Given the description of an element on the screen output the (x, y) to click on. 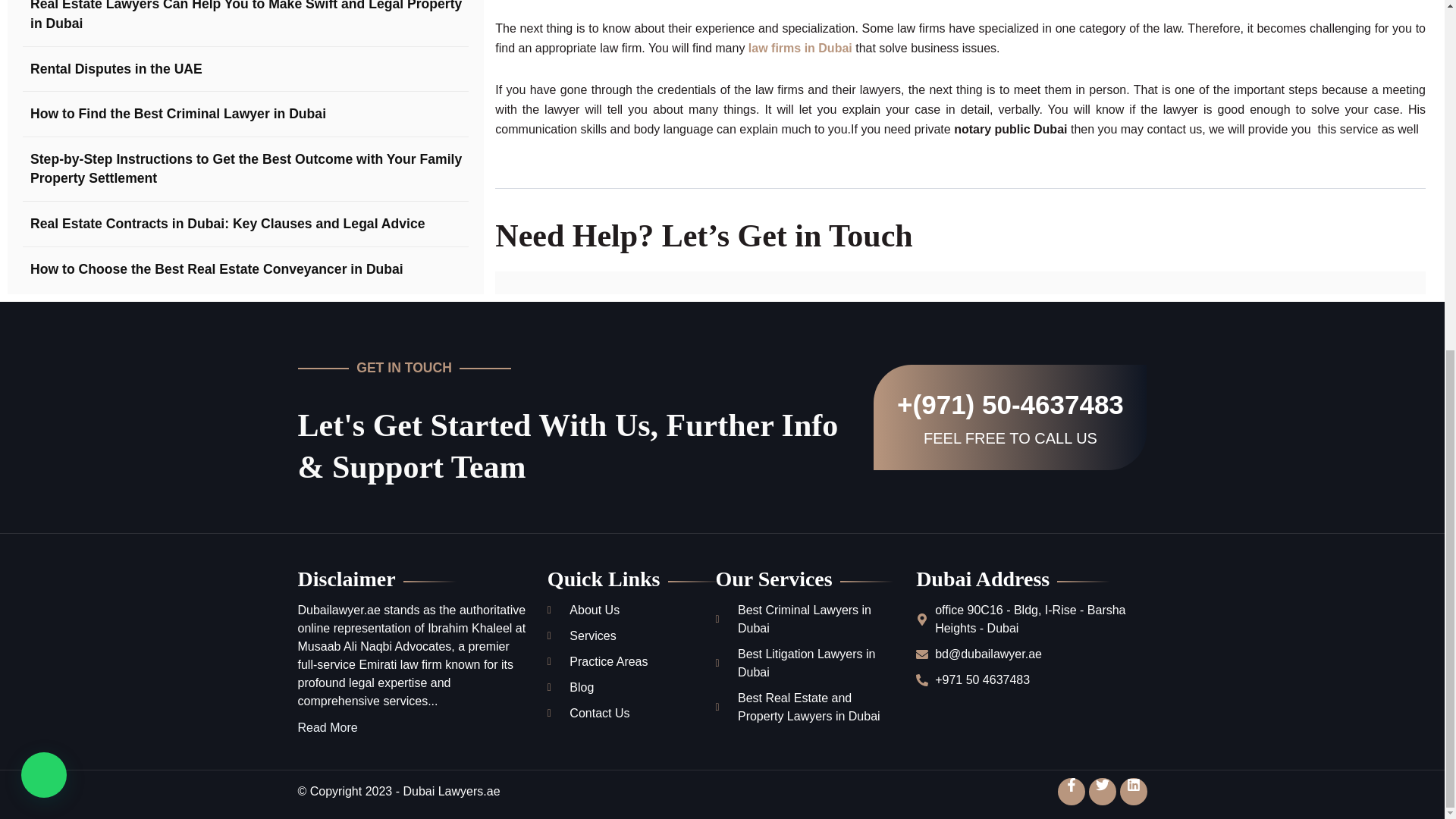
law firms in Dubai (799, 47)
How to Choose the Best Real Estate Conveyancer in Dubai (213, 248)
How to Find the Best Criminal Lawyer in Dubai (174, 93)
Rental Disputes in the UAE (112, 48)
Real Estate Contracts in Dubai: Key Clauses and Legal Advice (224, 202)
